Given the description of an element on the screen output the (x, y) to click on. 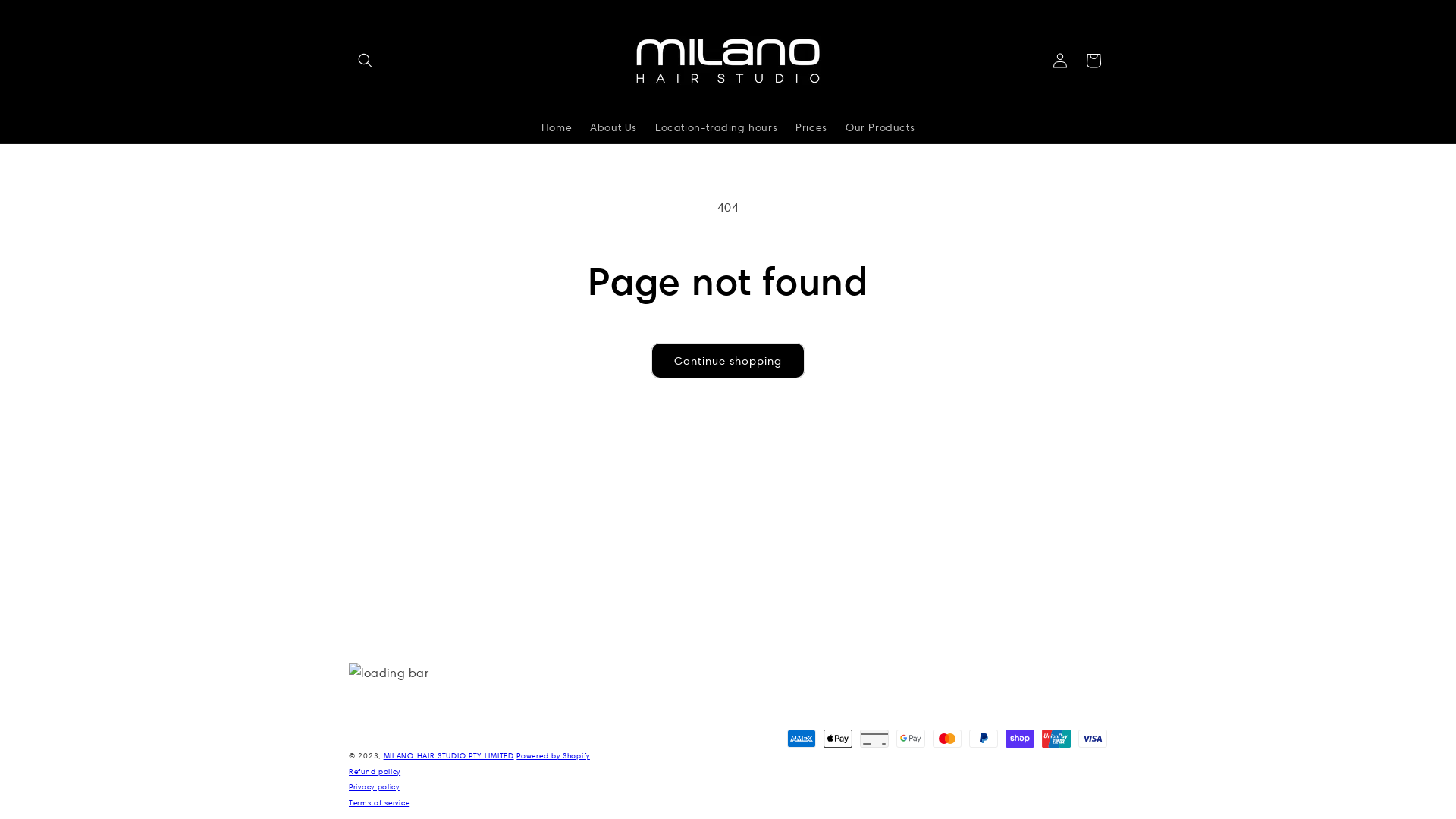
Terms of service Element type: text (378, 802)
Location-trading hours Element type: text (716, 126)
Log in Element type: text (1059, 60)
Our Products Element type: text (879, 126)
Powered by Shopify Element type: text (552, 755)
Prices Element type: text (811, 126)
Home Element type: text (556, 126)
Continue shopping Element type: text (727, 360)
Refund policy Element type: text (374, 771)
MILANO HAIR STUDIO PTY LIMITED Element type: text (448, 755)
About Us Element type: text (613, 126)
Privacy policy Element type: text (373, 786)
Cart Element type: text (1093, 60)
